Given the description of an element on the screen output the (x, y) to click on. 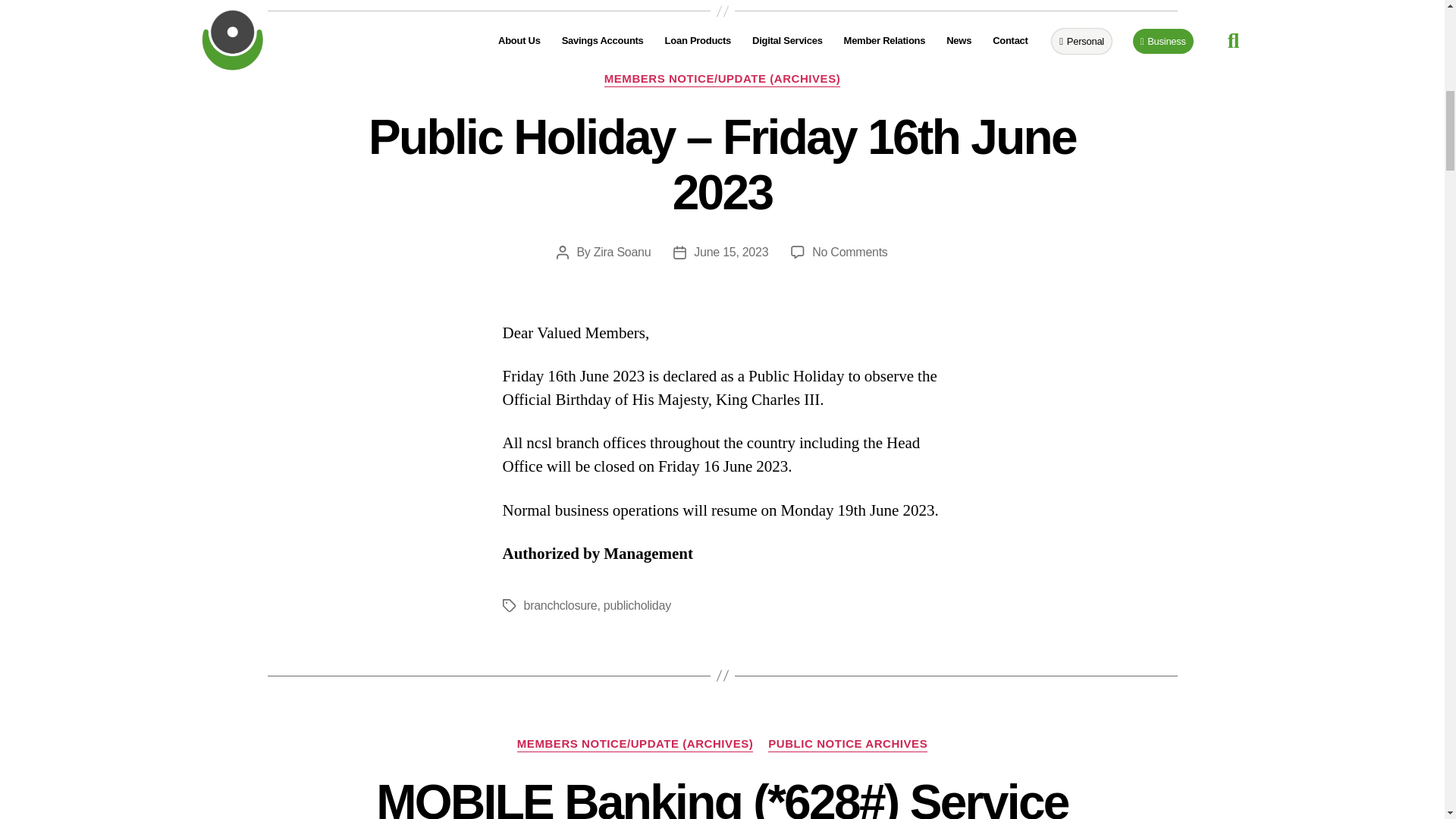
June 15, 2023 (731, 251)
branchclosure (559, 604)
publicholiday (637, 604)
Zira Soanu (622, 251)
No Comments (849, 251)
PUBLIC NOTICE ARCHIVES (847, 744)
